Given the description of an element on the screen output the (x, y) to click on. 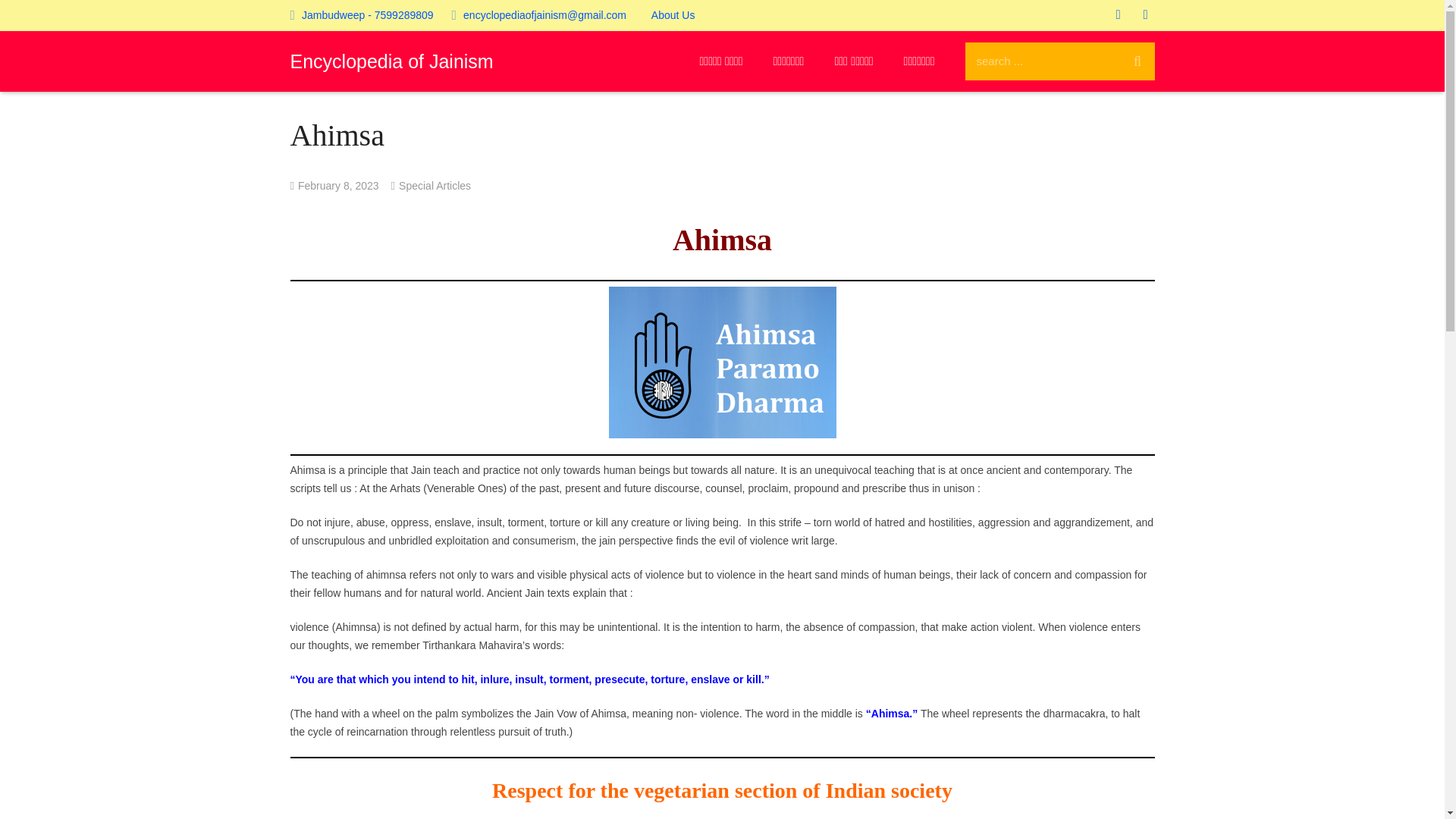
About Us (672, 15)
Special Articles (434, 185)
Encyclopedia of Jainism (391, 61)
